Given the description of an element on the screen output the (x, y) to click on. 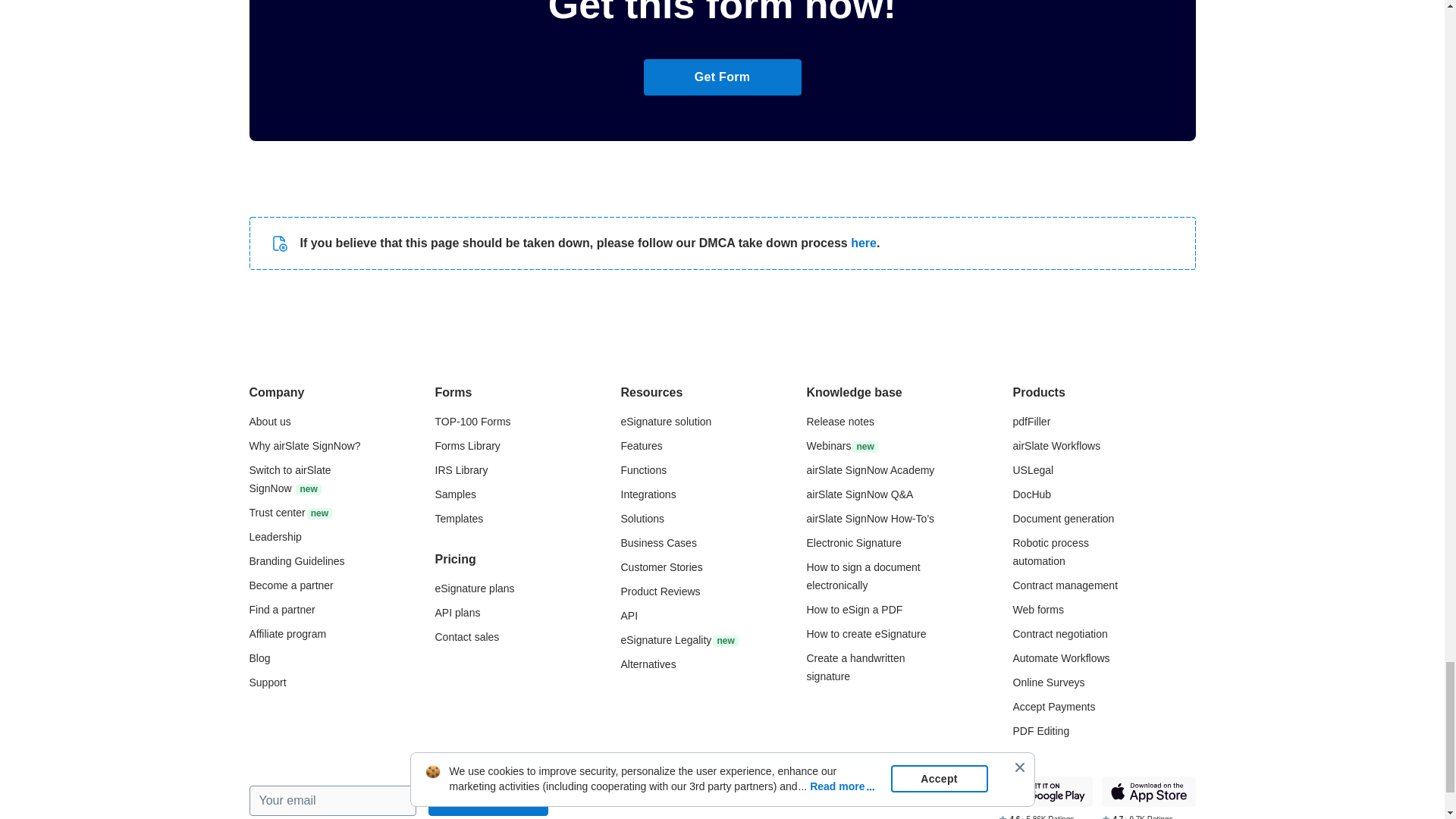
Go to the  airSlate signNow  forms library page (467, 445)
Go to the  airSlate signNow  templates page (459, 518)
Go to the partners page (281, 609)
Go to the top 100 forms page (473, 421)
Go to the  airSlate signNow  API pricing page (457, 612)
Go to the Brand page (295, 561)
Go to the affiliate program page (287, 633)
Go to the  airSlate signNow  pricing page (475, 588)
Go to the support center (266, 682)
Go to the Migrate page (289, 479)
Go to the  airSlate signNow  Blog (258, 657)
Go to the  airSlate signNow  irs library page (461, 469)
Go to the airSlate partner portal (290, 585)
Go to the leadership page (274, 536)
Go to the sample documents page (455, 494)
